Given the description of an element on the screen output the (x, y) to click on. 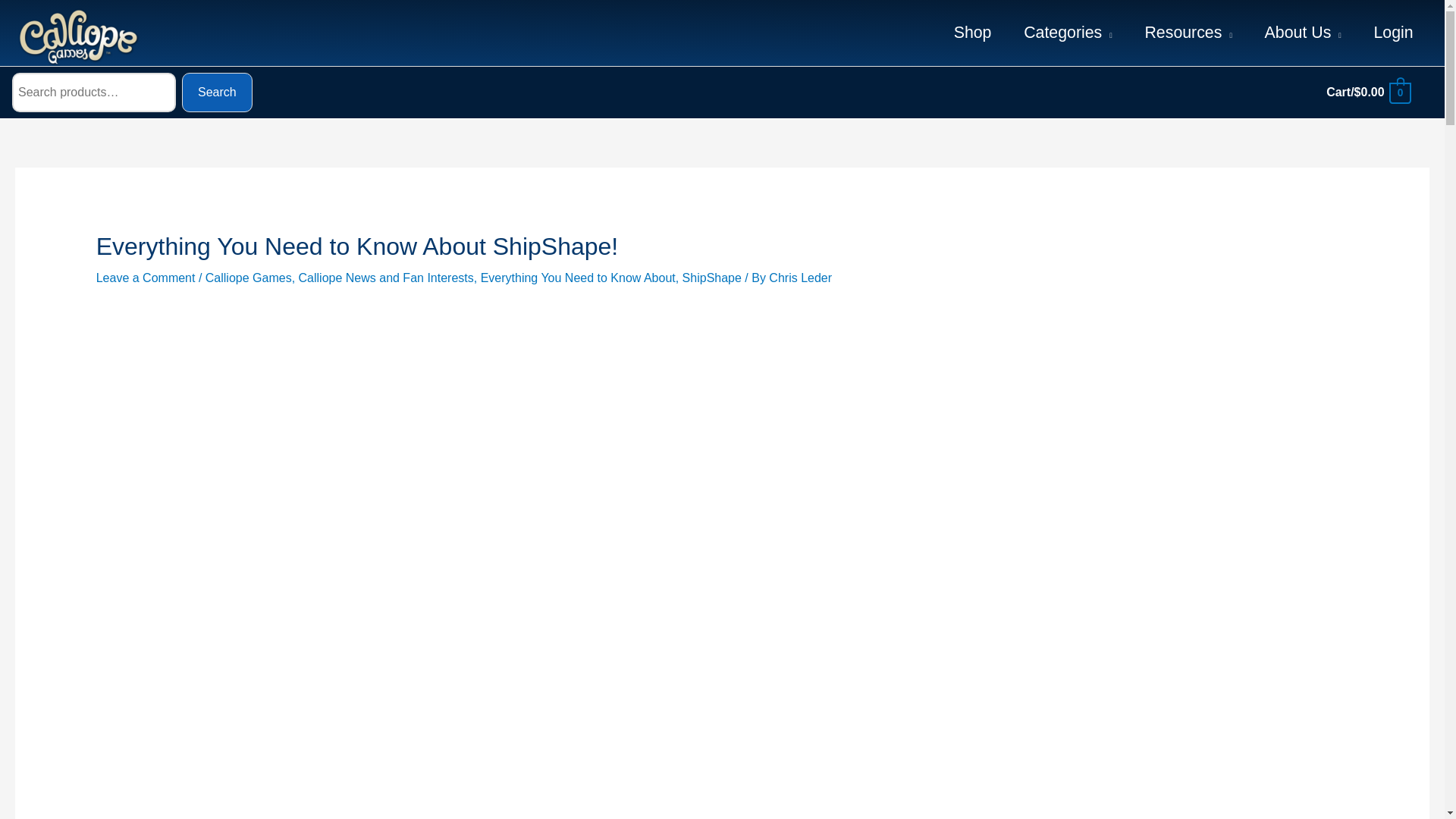
View all posts by Chris Leder (799, 277)
ShipShape (711, 277)
About Us (1301, 33)
Calliope News and Fan Interests (386, 277)
Calliope Games (248, 277)
Categories (1067, 33)
Search (216, 92)
Chris Leder (799, 277)
Leave a Comment (145, 277)
Everything You Need to Know About (577, 277)
